Given the description of an element on the screen output the (x, y) to click on. 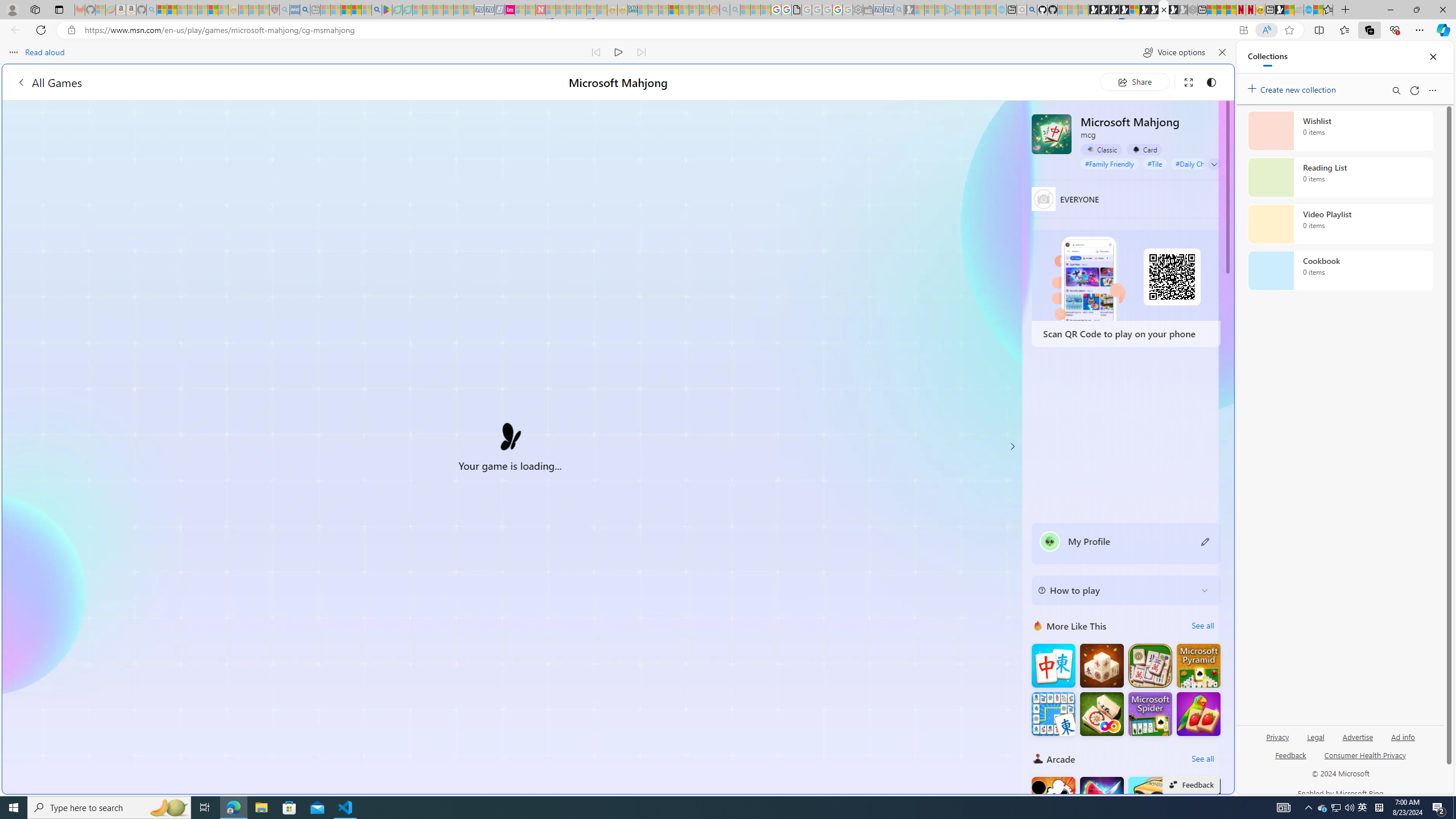
New Report Confirms 2023 Was Record Hot | Watch - Sleeping (202, 9)
Class: button edit-icon (1205, 541)
Voice options (1174, 52)
Back (13, 29)
Pets - MSN (356, 9)
""'s avatar (1049, 541)
Arcade (1037, 758)
